Given the description of an element on the screen output the (x, y) to click on. 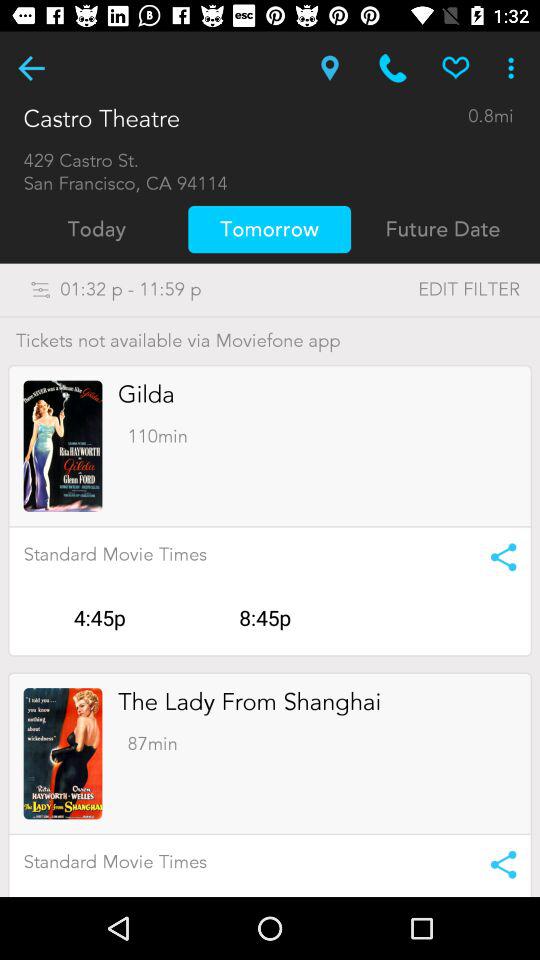
flip until the lady from icon (249, 702)
